Given the description of an element on the screen output the (x, y) to click on. 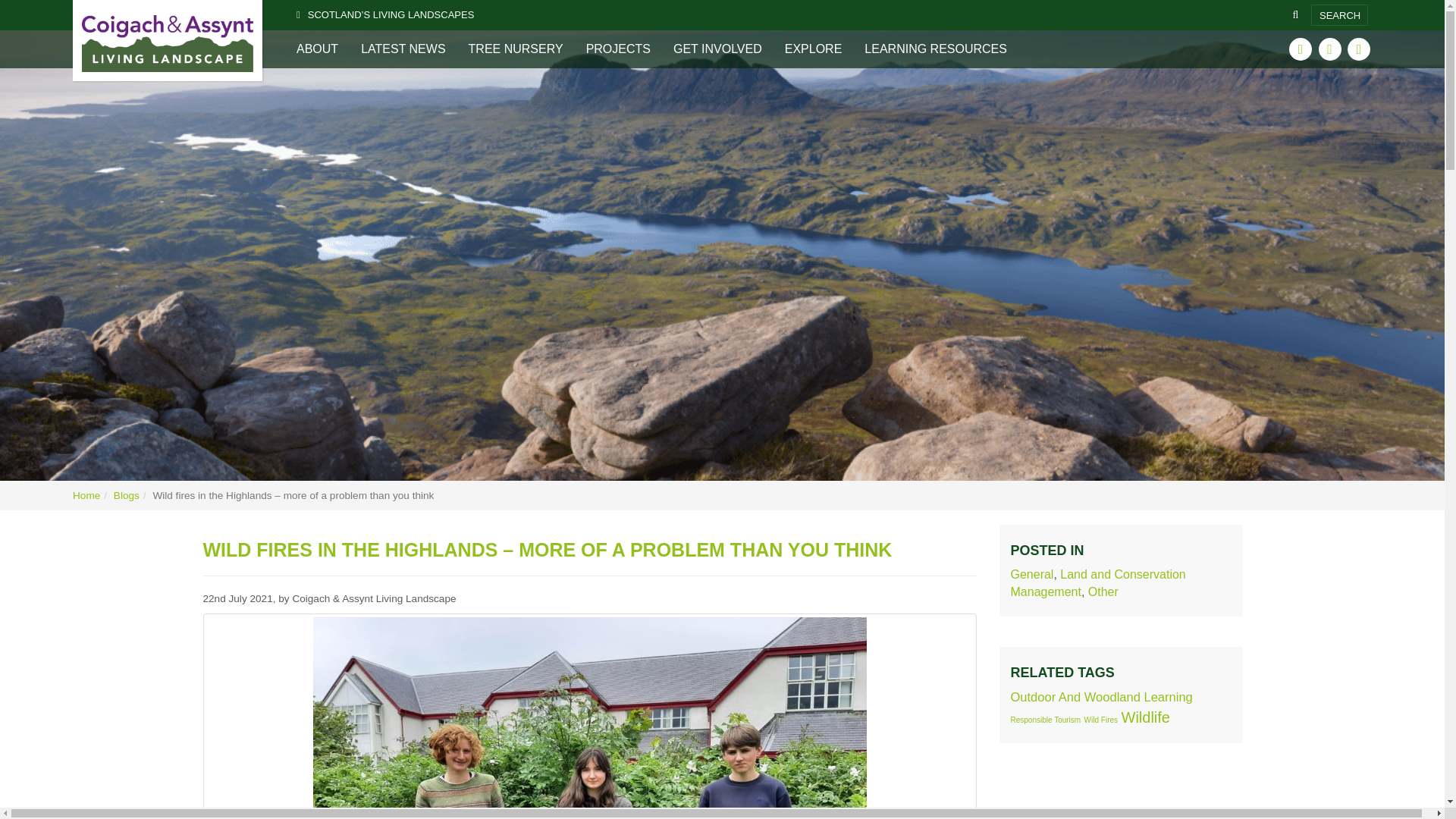
YouTube (1359, 48)
Responsible Tourism (1045, 719)
Blogs (126, 495)
LEARNING RESOURCES (935, 48)
EXPLORE (813, 48)
PROJECTS (618, 48)
TREE NURSERY (516, 48)
Wild Fires (1101, 719)
Wildlife (1145, 717)
Land and Conservation Management (1097, 583)
LATEST NEWS (403, 48)
Home (86, 495)
Facebook (1329, 48)
Other (1102, 591)
Twitter (1299, 48)
